Given the description of an element on the screen output the (x, y) to click on. 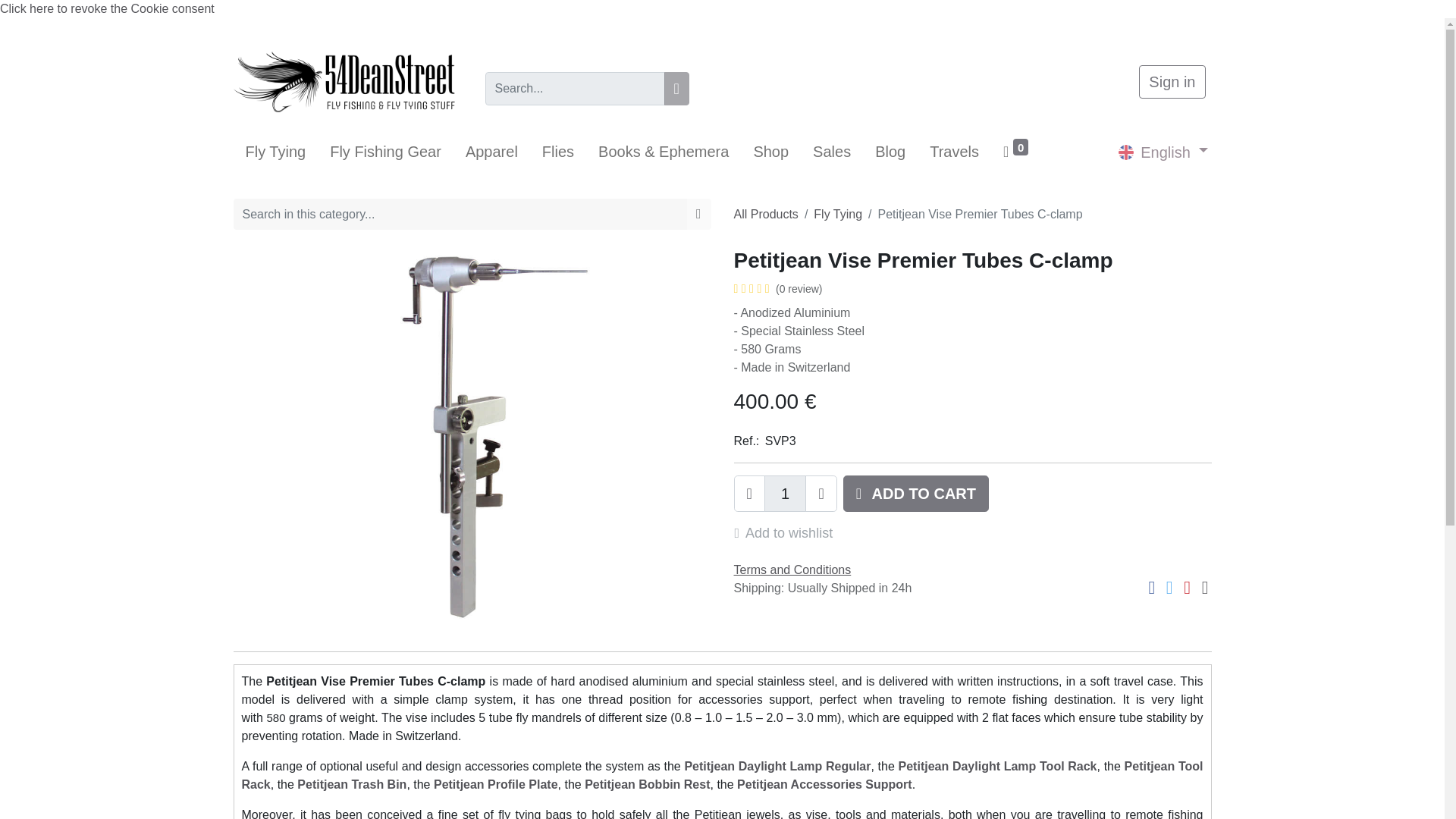
Sign in (1171, 81)
Travels (954, 151)
Petitjean Daylight Lamp Tool Rack (997, 766)
Fly Tying (275, 151)
Petitjean Daylight Lamp Regular (777, 766)
Fly Fishing Gear (384, 151)
Fly Tying (837, 214)
Add to wishlist (789, 532)
Terms and Conditions (792, 569)
Petitjean Trash Bin (351, 784)
